Given the description of an element on the screen output the (x, y) to click on. 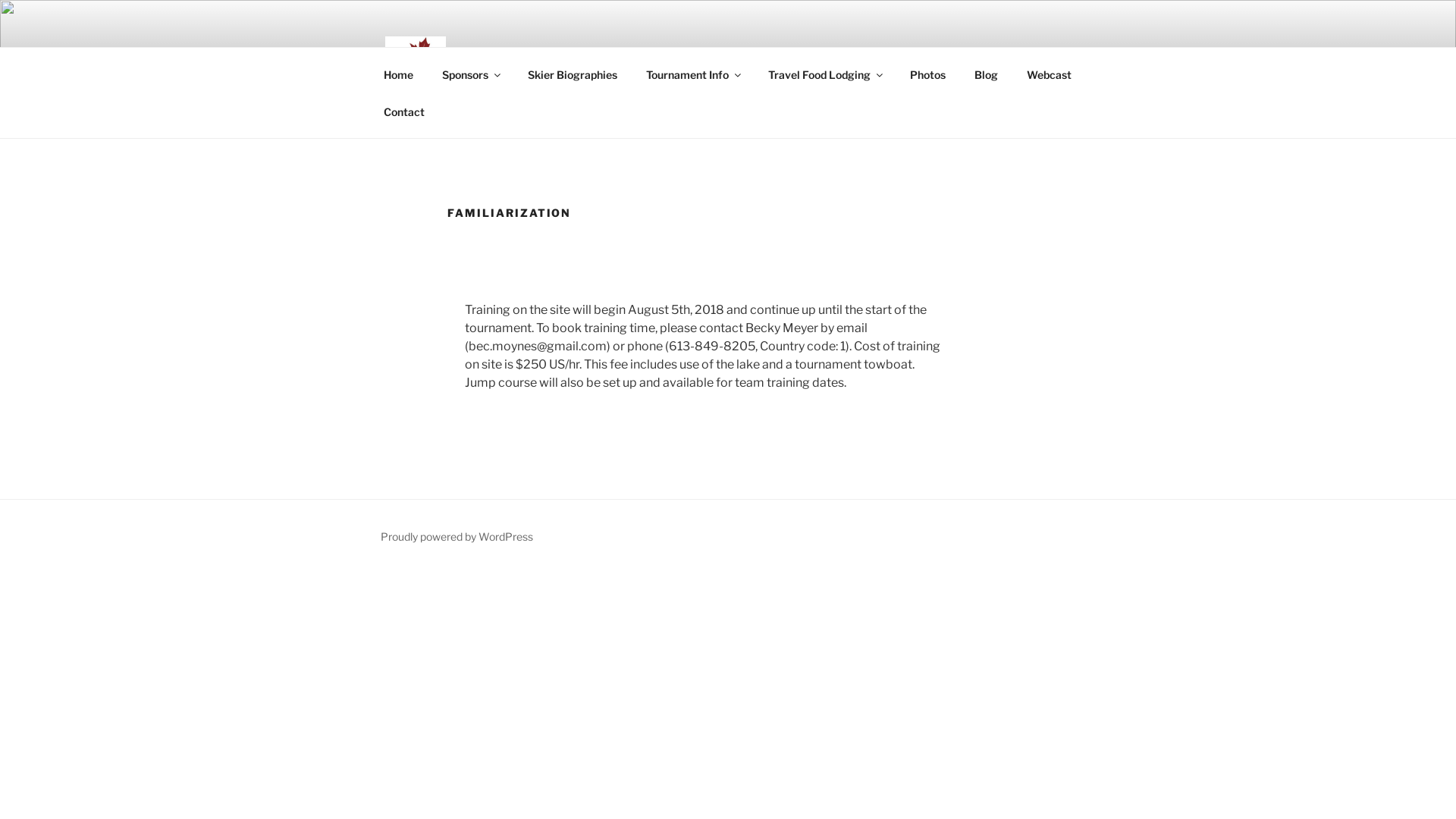
Proudly powered by WordPress Element type: text (456, 536)
Photos Element type: text (927, 74)
2018 BAREFOOT WORLD WATERSKI CHAMPIONSHIPS Element type: text (664, 135)
Webcast Element type: text (1048, 74)
Travel Food Lodging Element type: text (824, 74)
Skier Biographies Element type: text (572, 74)
Sponsors Element type: text (469, 74)
Blog Element type: text (985, 74)
Tournament Info Element type: text (692, 74)
Home Element type: text (398, 74)
Contact Element type: text (403, 110)
